Given the description of an element on the screen output the (x, y) to click on. 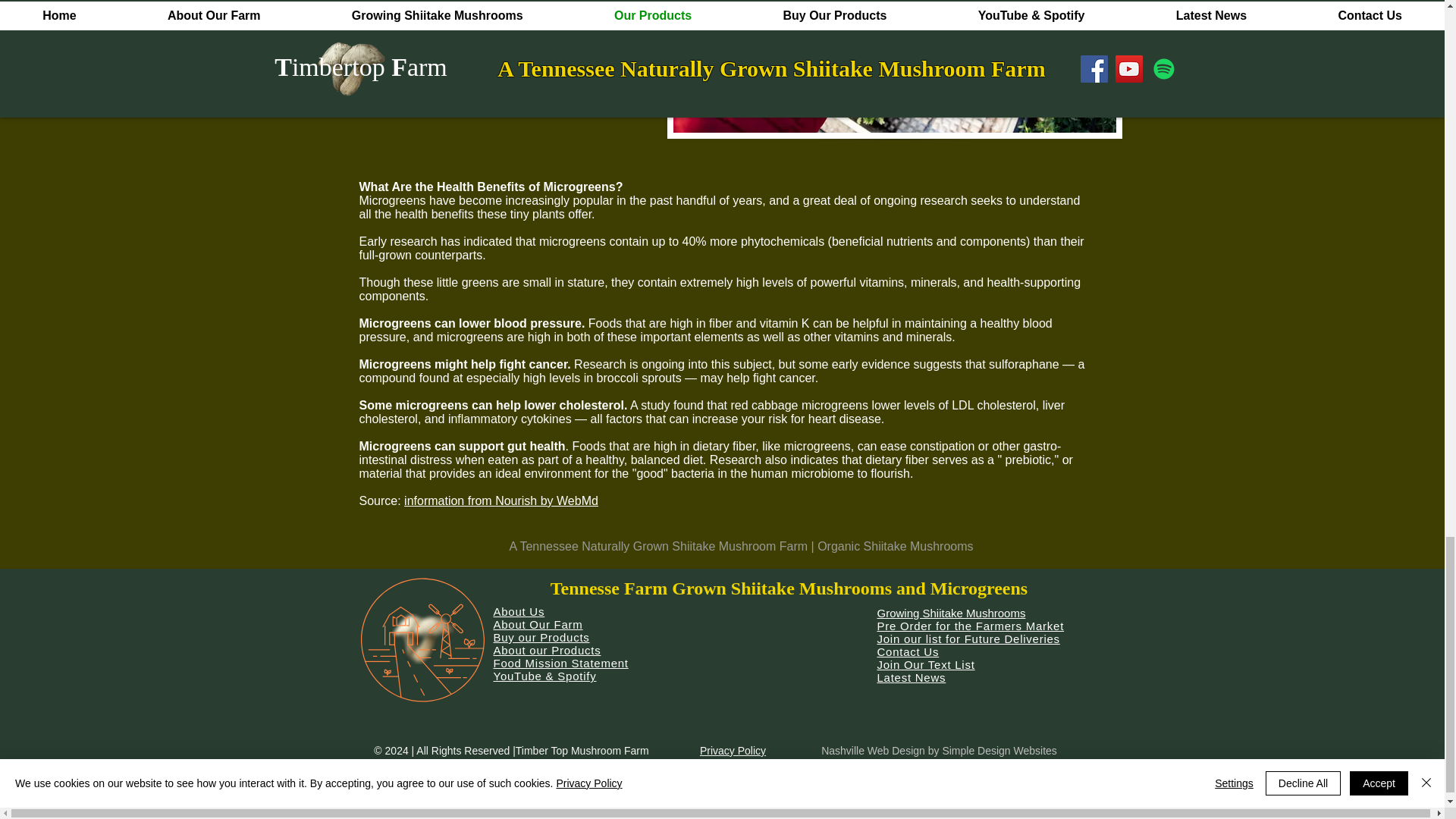
Microgreens nutritional and health benefits (894, 69)
vitamins (881, 282)
Buy Our Products (503, 97)
cancer (796, 377)
Timber Top TN mushroom farm (421, 638)
vitamin K (784, 323)
blood pressure (705, 329)
minerals (933, 282)
